Given the description of an element on the screen output the (x, y) to click on. 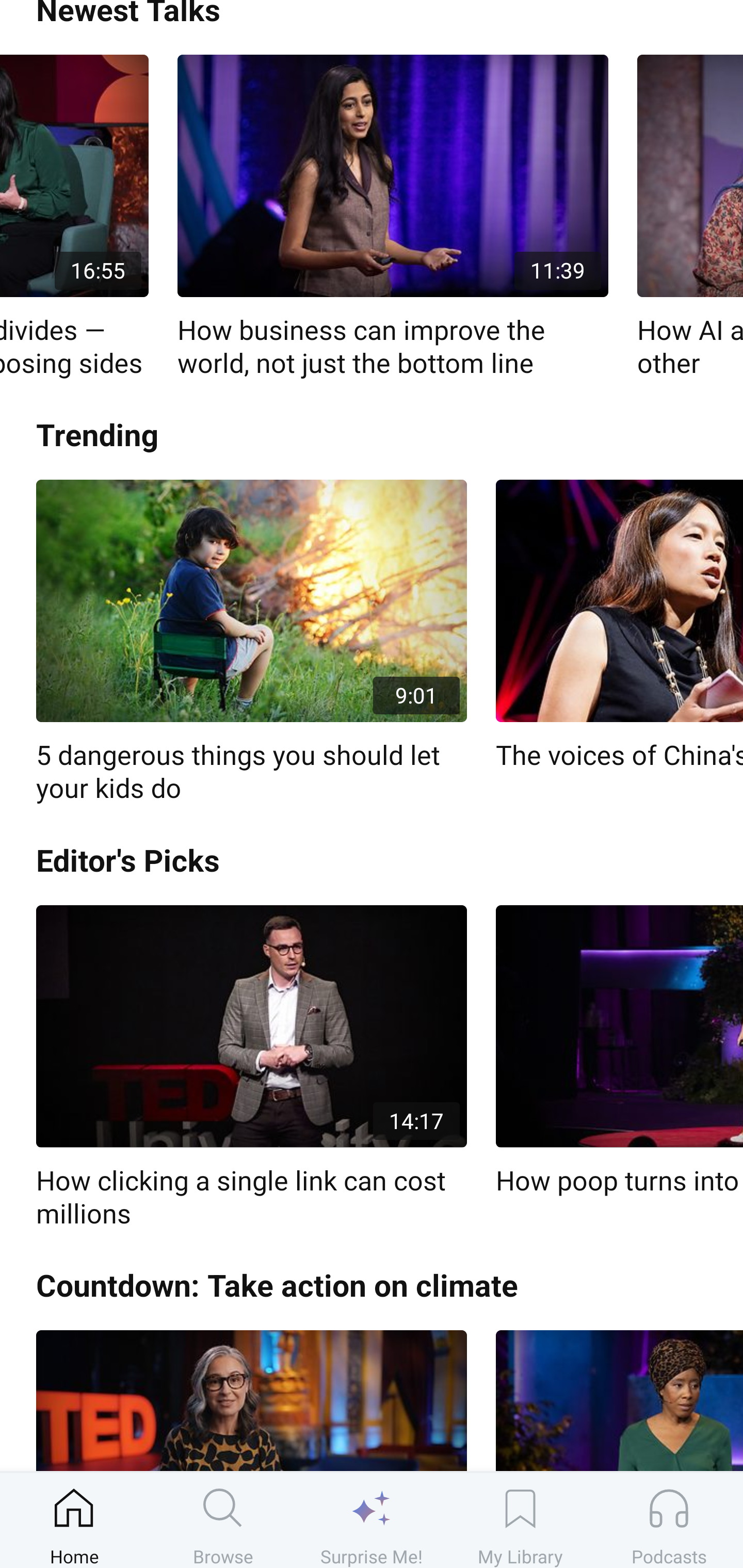
The voices of China's workers (619, 626)
14:17 How clicking a single link can cost millions (251, 1067)
Home (74, 1520)
Browse (222, 1520)
Surprise Me! (371, 1520)
My Library (519, 1520)
Podcasts (668, 1520)
